Given the description of an element on the screen output the (x, y) to click on. 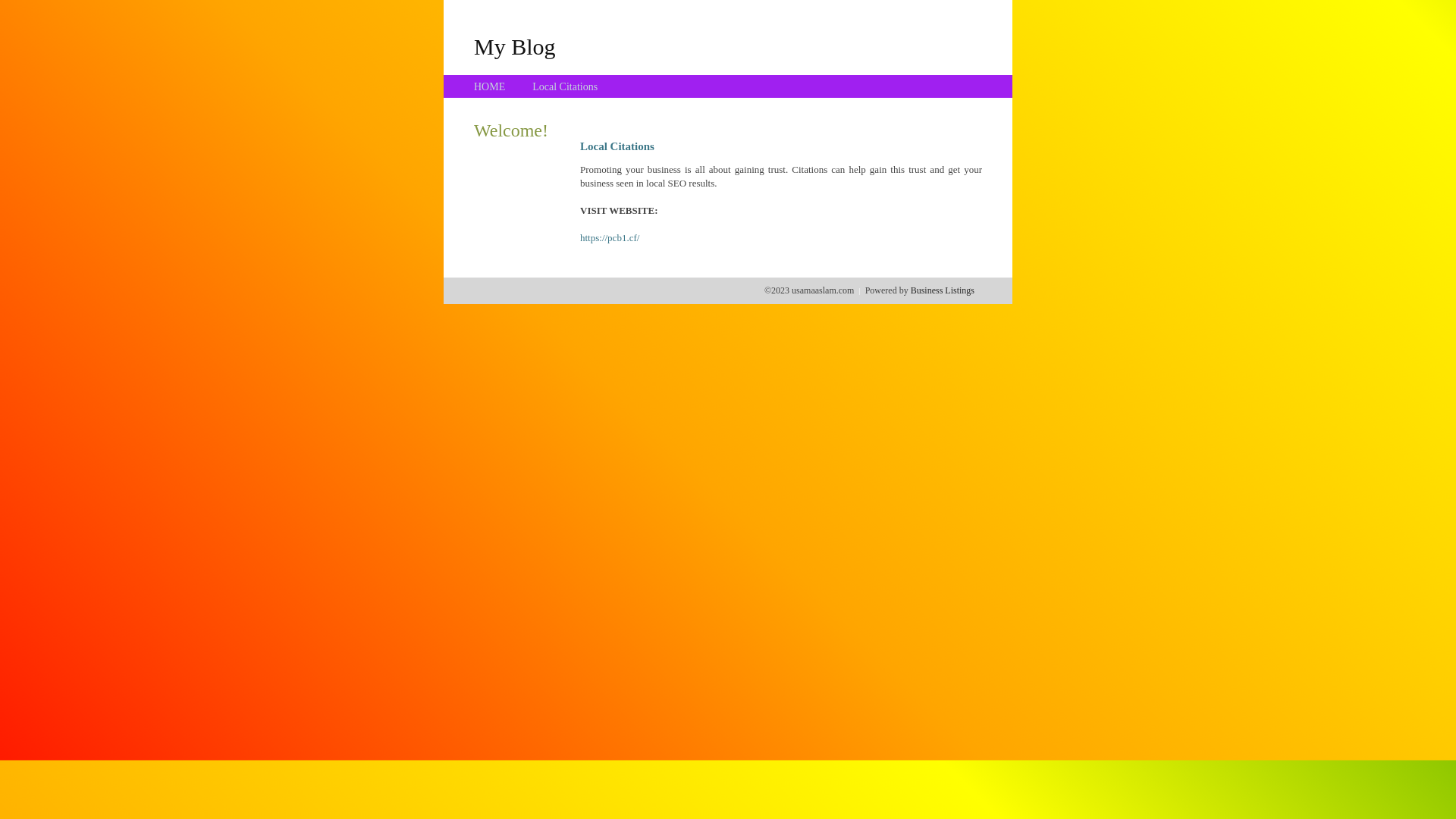
My Blog Element type: text (514, 46)
https://pcb1.cf/ Element type: text (609, 237)
HOME Element type: text (489, 86)
Business Listings Element type: text (942, 290)
Local Citations Element type: text (564, 86)
